Given the description of an element on the screen output the (x, y) to click on. 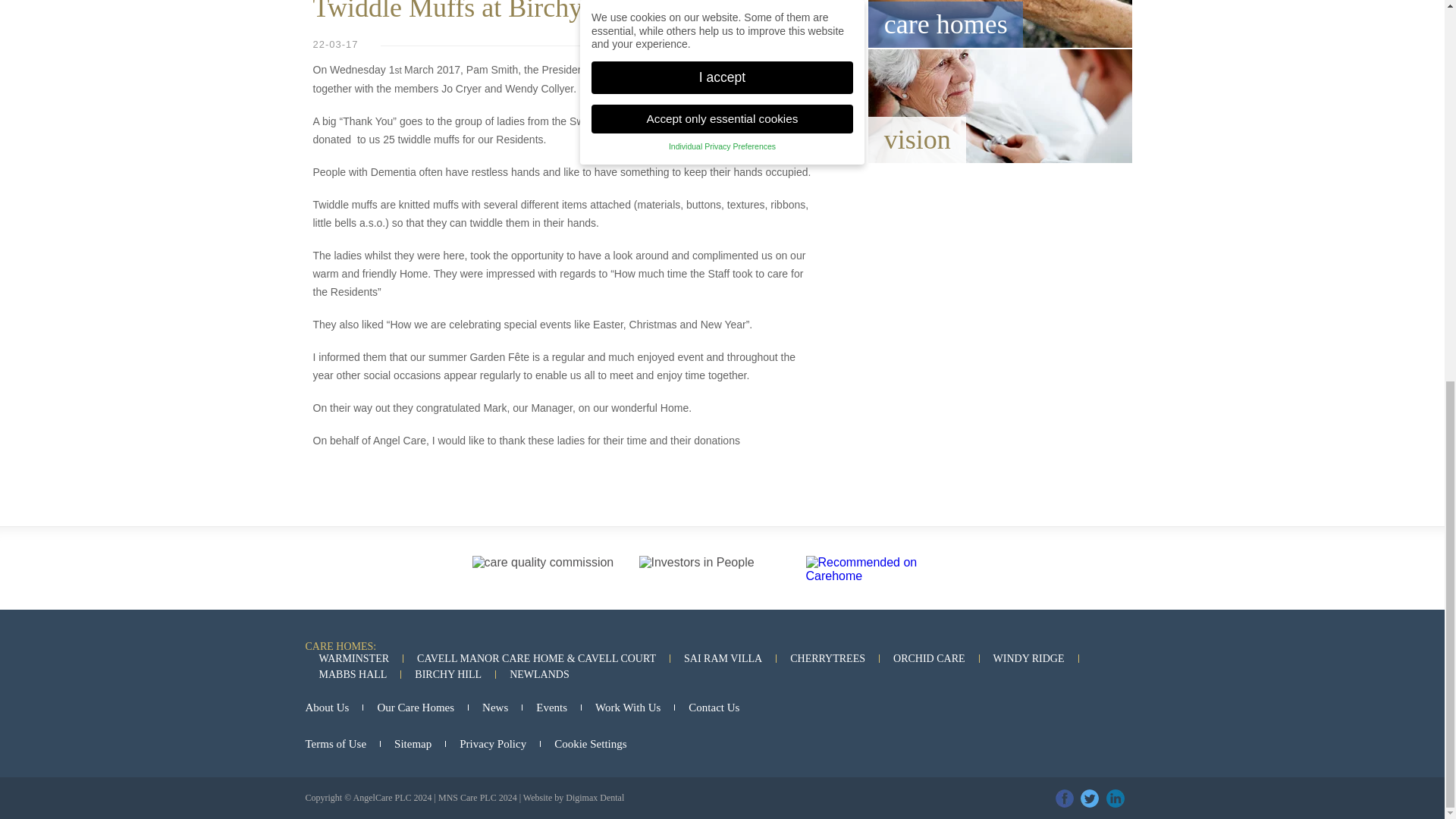
WARMINSTER (353, 658)
SAI RAM VILLA (722, 658)
care homes (999, 23)
vision (999, 105)
care homes (999, 23)
vision (999, 105)
